Given the description of an element on the screen output the (x, y) to click on. 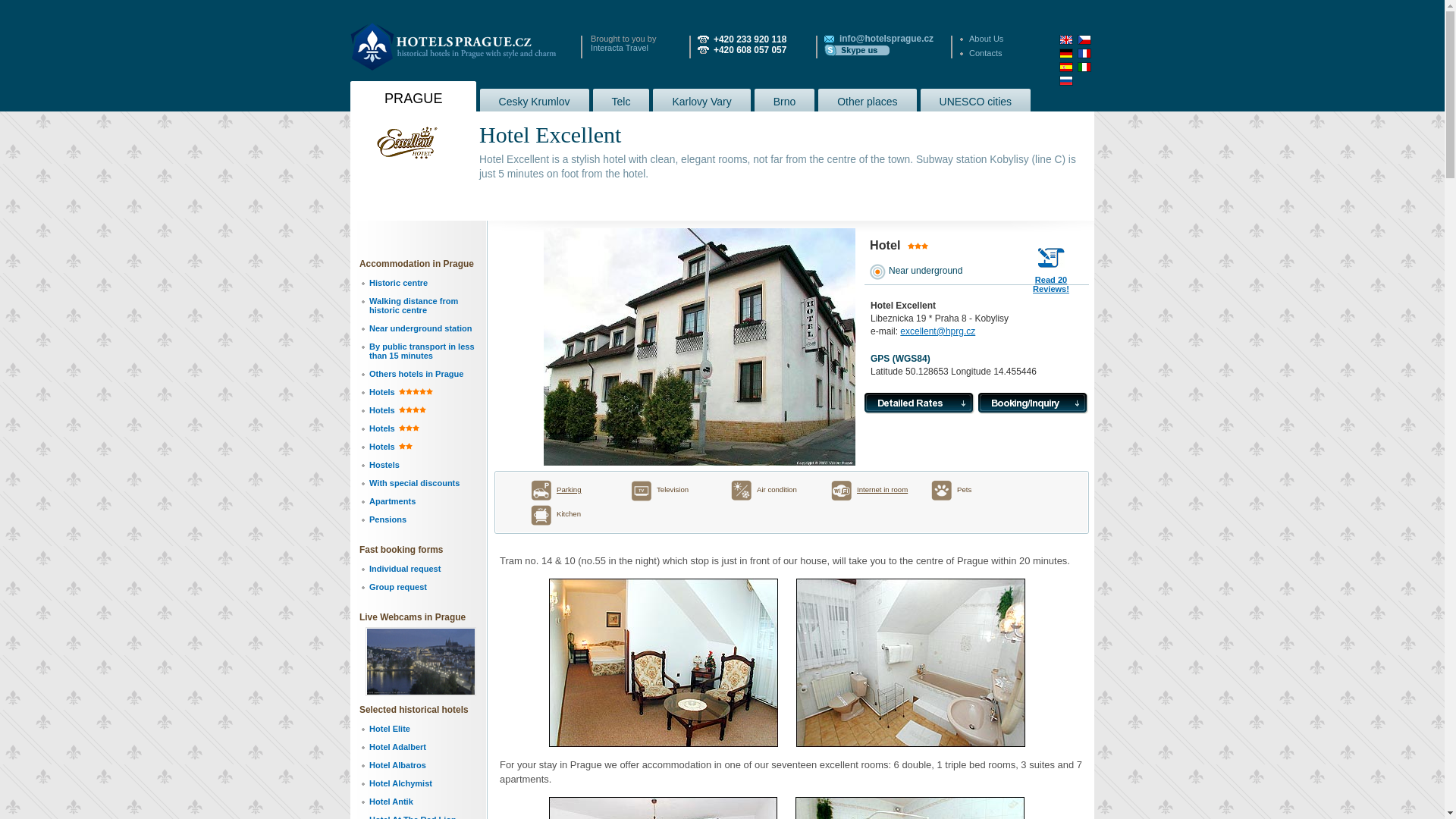
Brno (784, 99)
Karlovy Vary (1050, 280)
Air condition (700, 99)
Pets (768, 490)
Television (969, 490)
Hotels Prague (668, 490)
Cesky Krumlov (453, 46)
PRAGUE (534, 99)
UNESCO (413, 96)
